Given the description of an element on the screen output the (x, y) to click on. 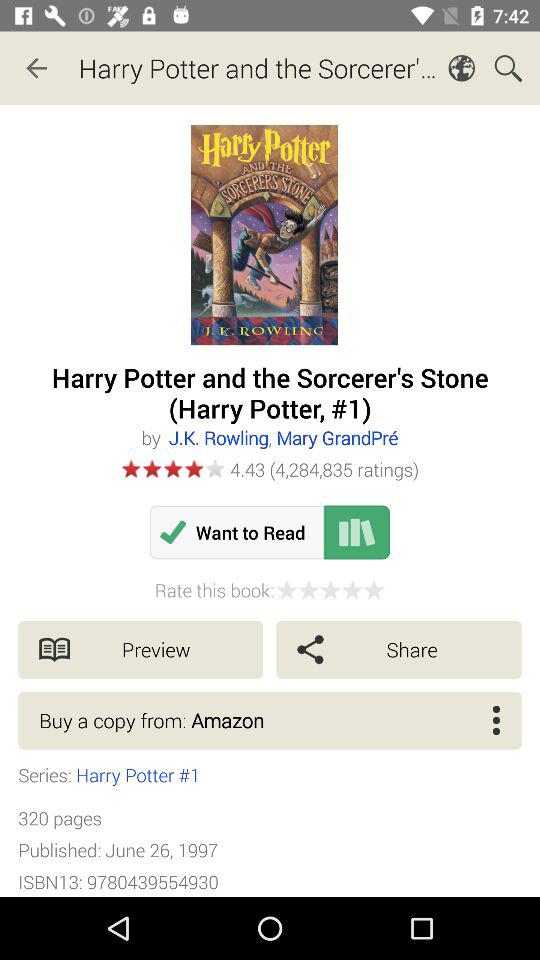
open icon above the buy a copy (398, 649)
